Given the description of an element on the screen output the (x, y) to click on. 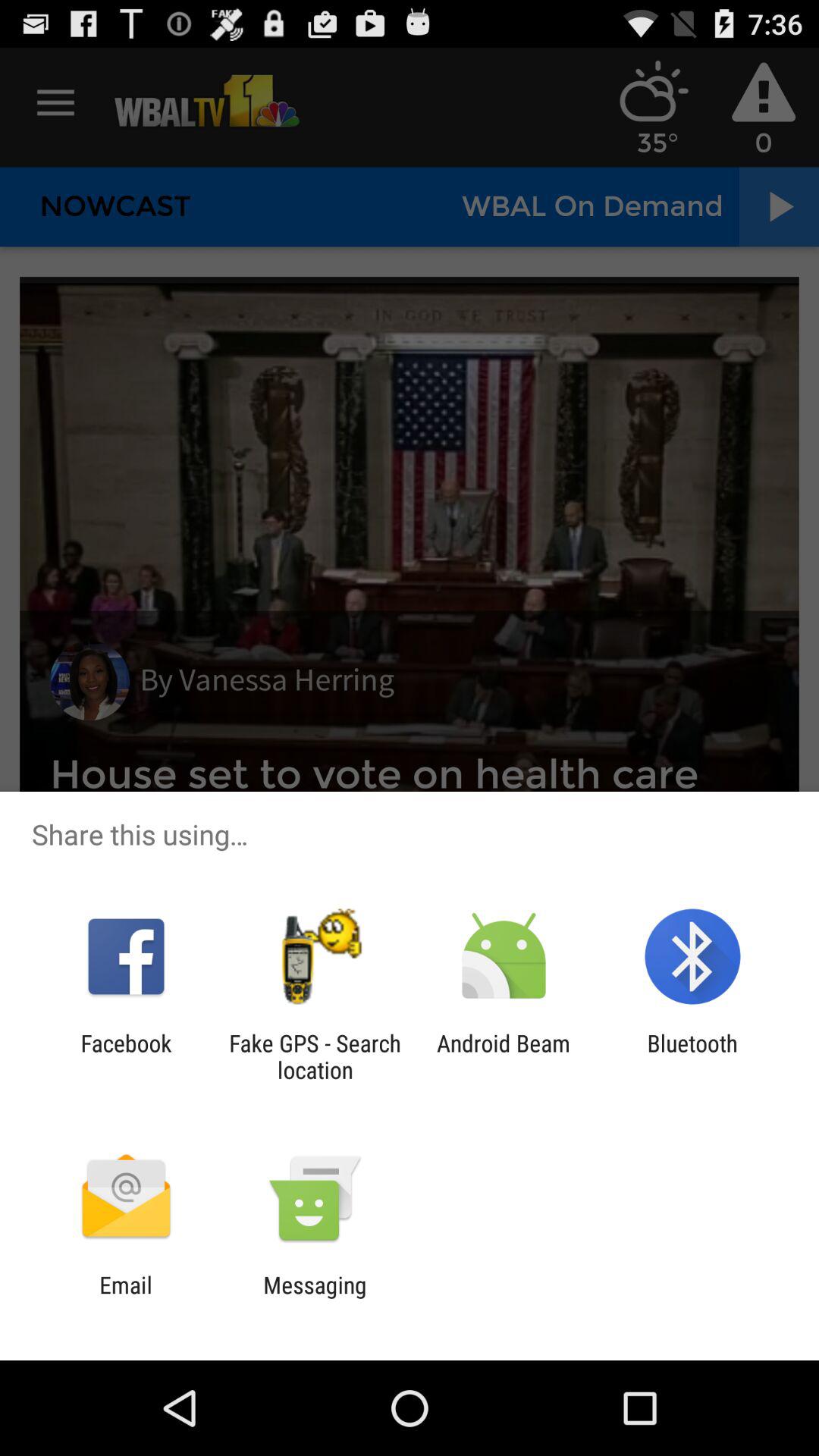
press the item to the left of the fake gps search (125, 1056)
